Given the description of an element on the screen output the (x, y) to click on. 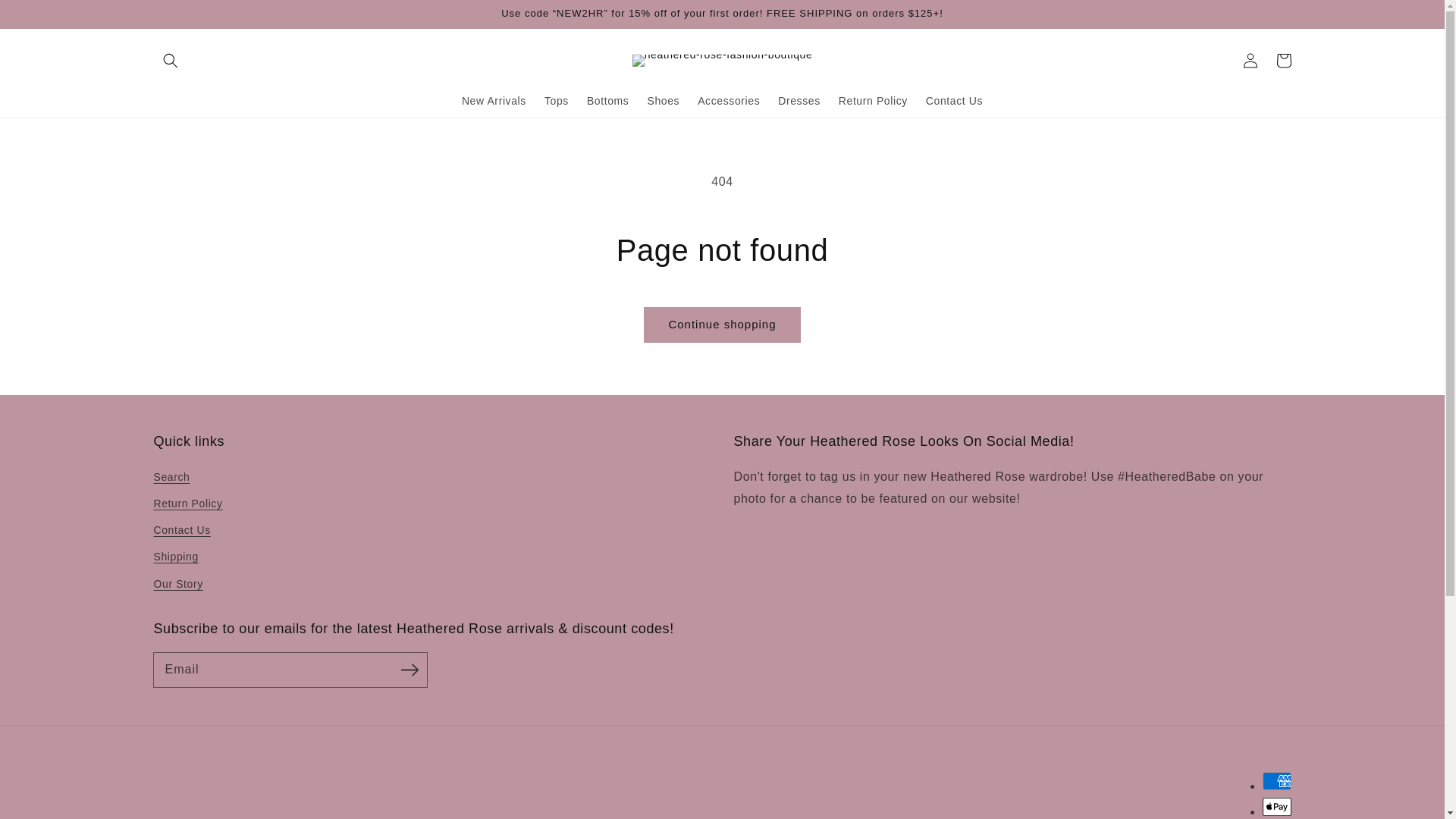
Tops (556, 101)
Return Policy (873, 101)
Cart (1283, 60)
Bottoms (608, 101)
Shoes (662, 101)
Contact Us (954, 101)
Log in (1249, 60)
Accessories (728, 101)
Our Story (177, 583)
New Arrivals (493, 101)
